Given the description of an element on the screen output the (x, y) to click on. 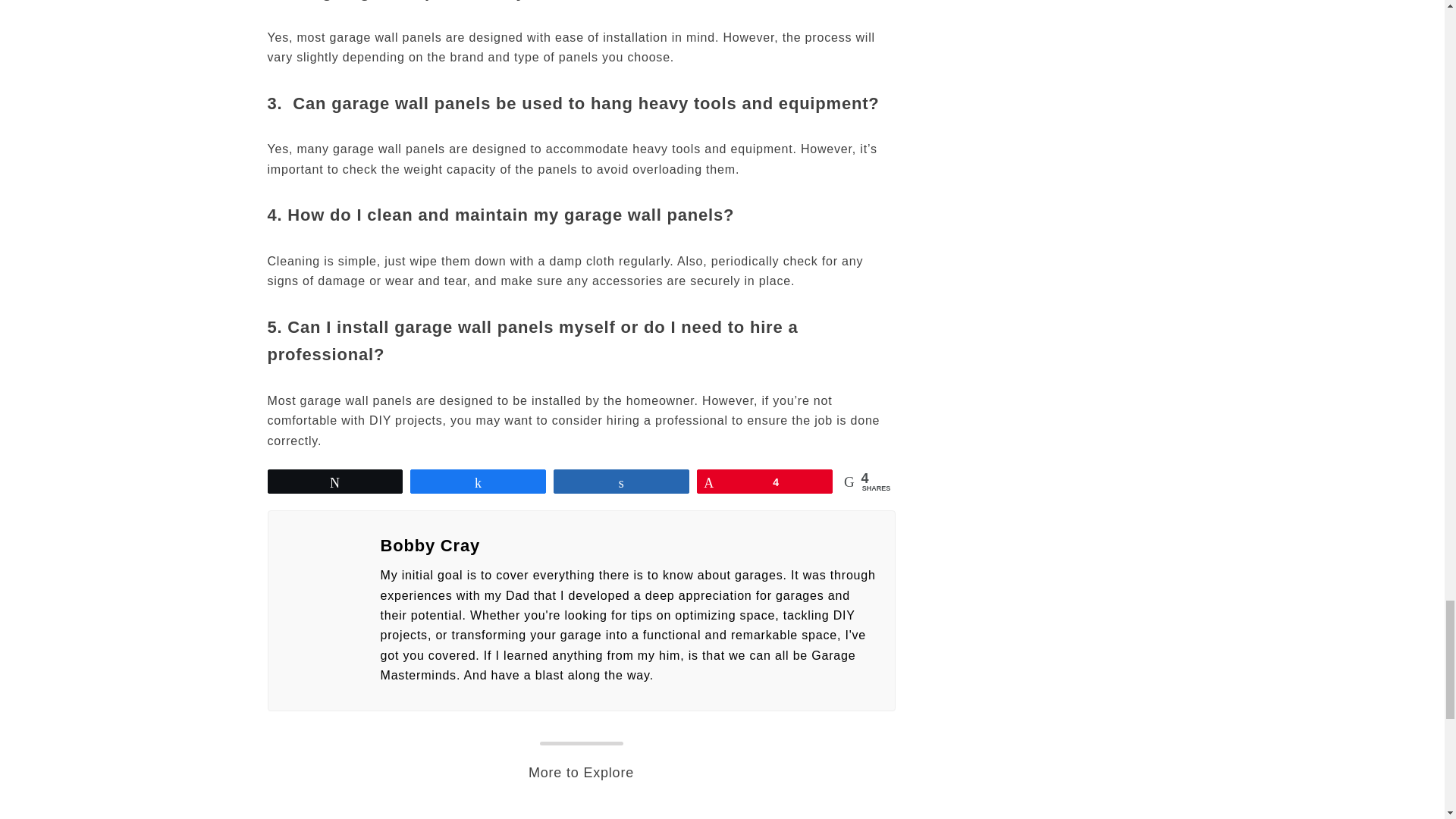
4 (764, 481)
link to Best Cat Door for Garage Door (580, 813)
Bobby Cray (628, 545)
link to Best Garage Door Dog Gate (797, 813)
link to Best Garage Door Insulation (363, 813)
